Given the description of an element on the screen output the (x, y) to click on. 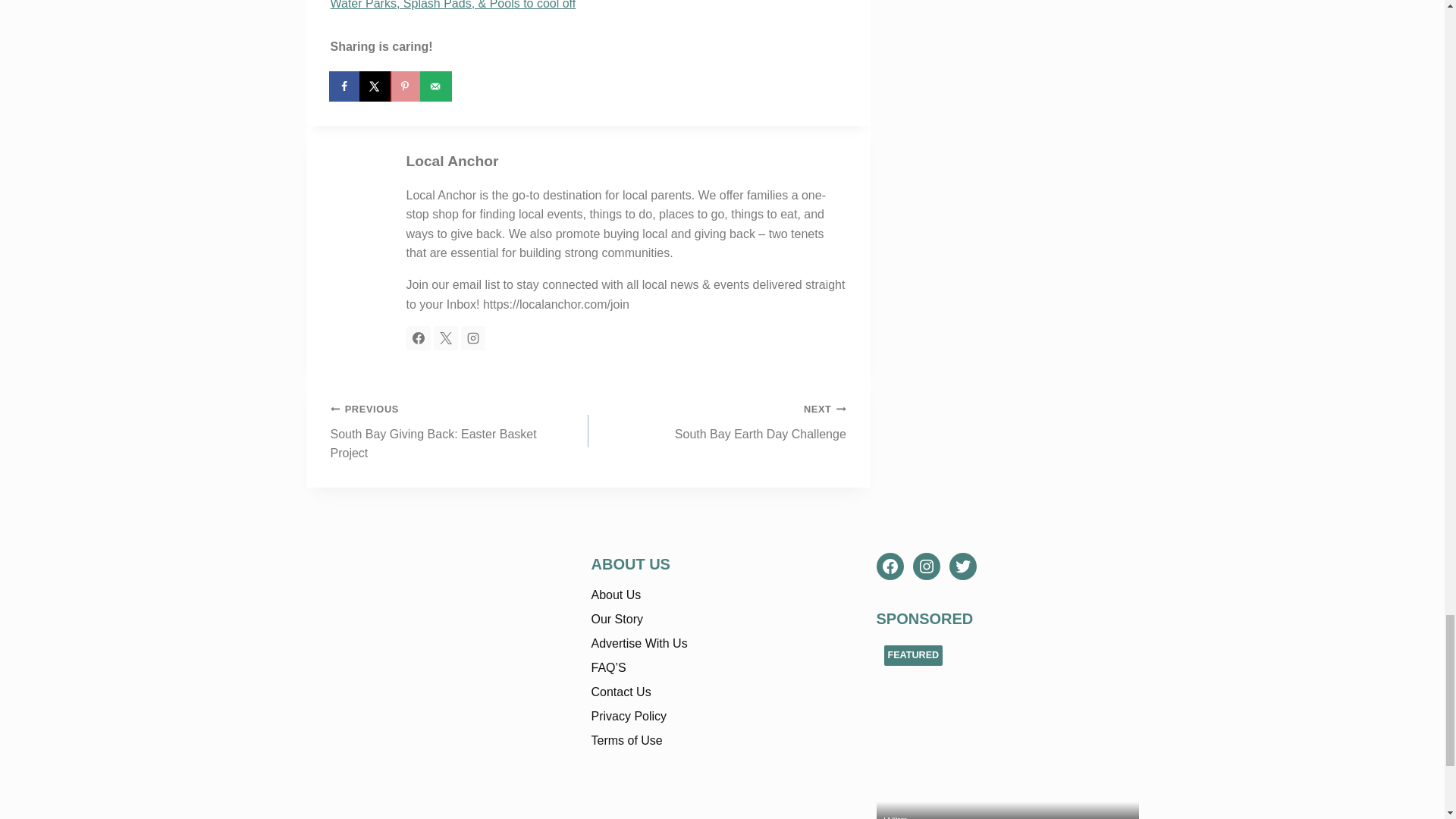
Send over email (436, 86)
Posts by Local Anchor (452, 160)
Share on X (376, 86)
Follow Local Anchor on X formerly Twitter (445, 337)
Follow Local Anchor on Instagram (472, 337)
Save to Pinterest (406, 86)
Share on Facebook (345, 86)
Follow Local Anchor on Facebook (418, 337)
